Given the description of an element on the screen output the (x, y) to click on. 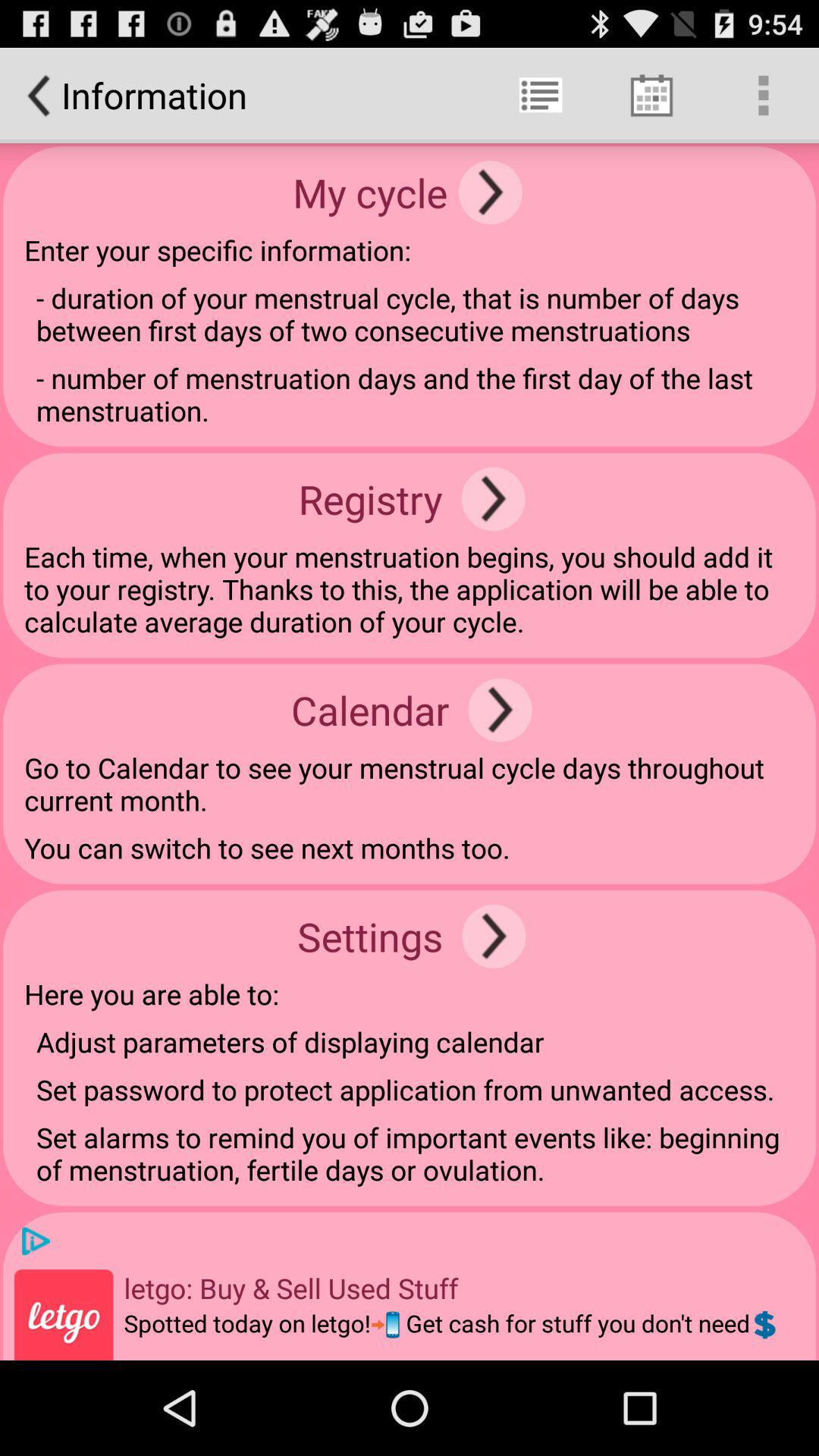
open the app above the go to calendar item (500, 710)
